Given the description of an element on the screen output the (x, y) to click on. 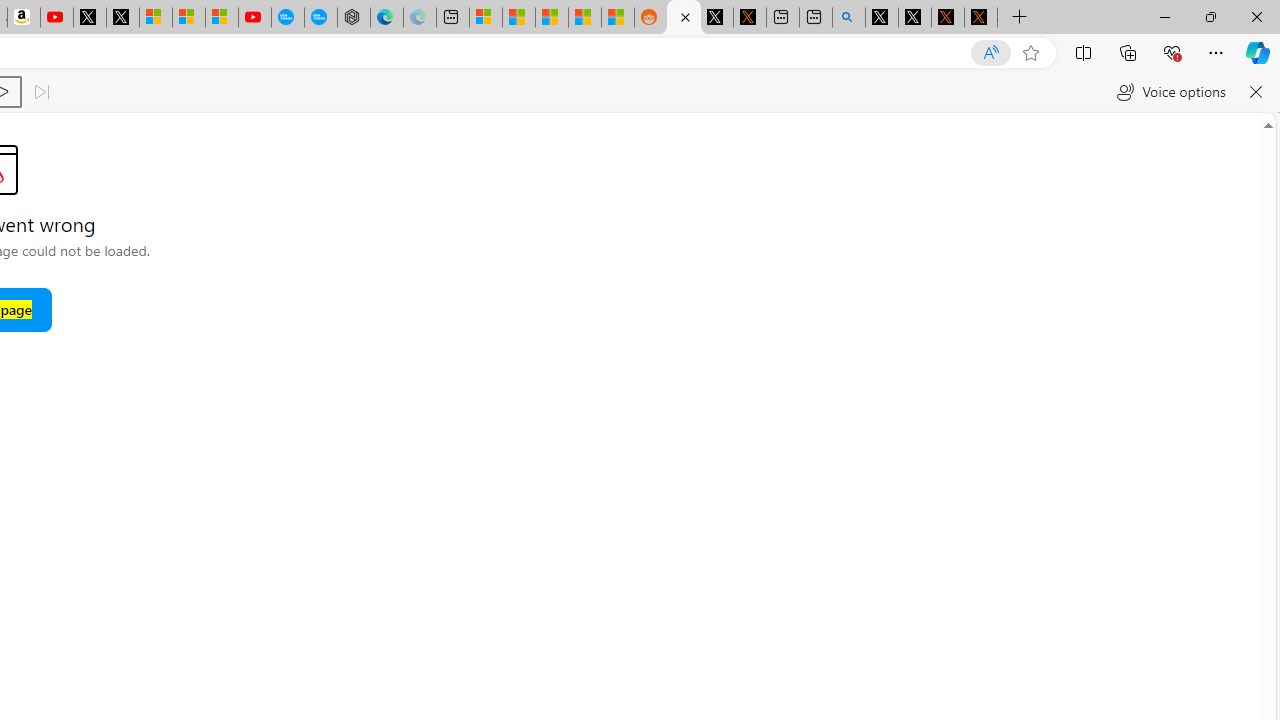
Close read aloud (1255, 92)
The most popular Google 'how to' searches (320, 17)
Microsoft account | Microsoft Account Privacy Settings (485, 17)
Read next paragraph (40, 92)
